Given the description of an element on the screen output the (x, y) to click on. 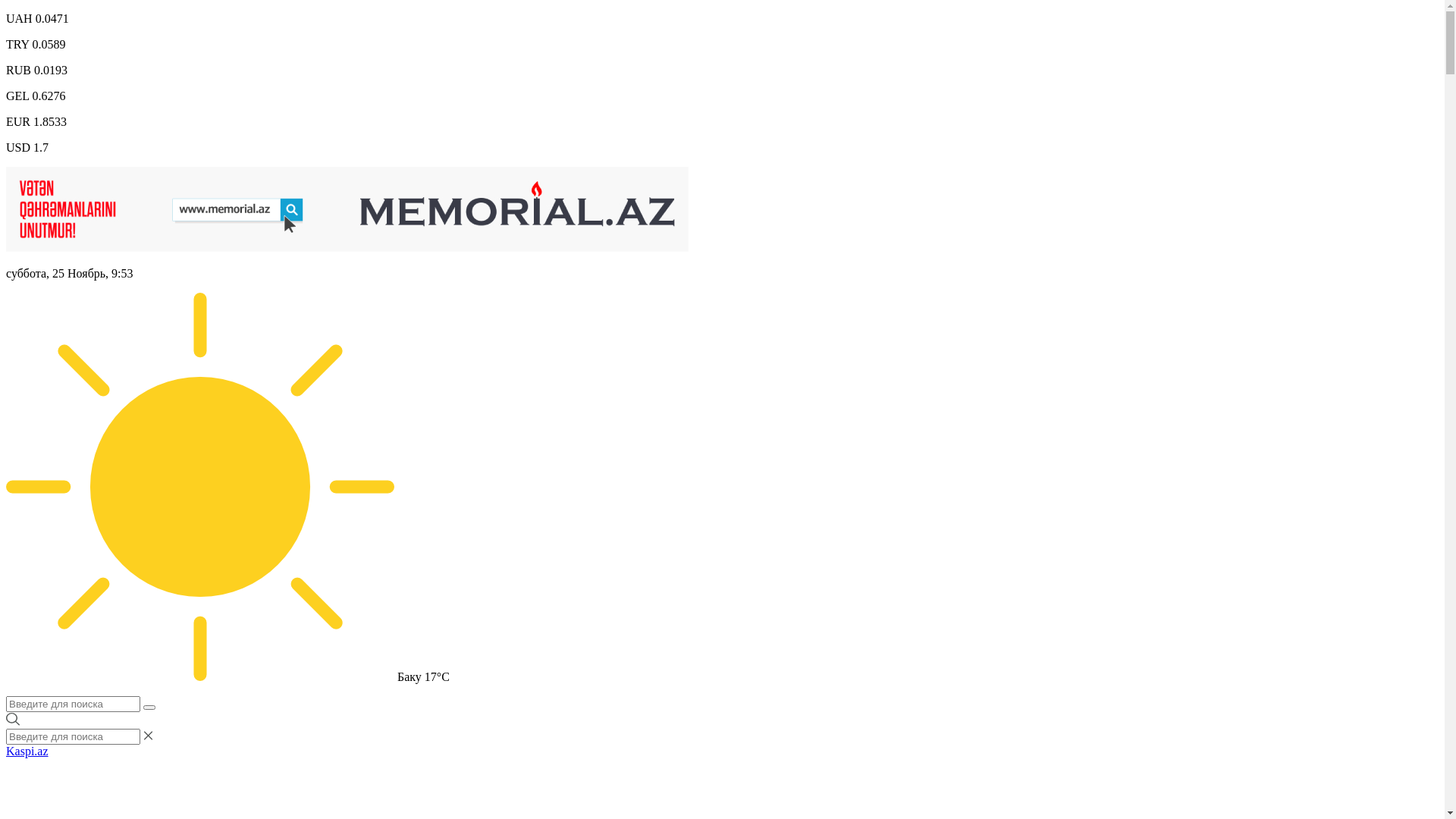
Kaspi.az Element type: text (27, 750)
